Given the description of an element on the screen output the (x, y) to click on. 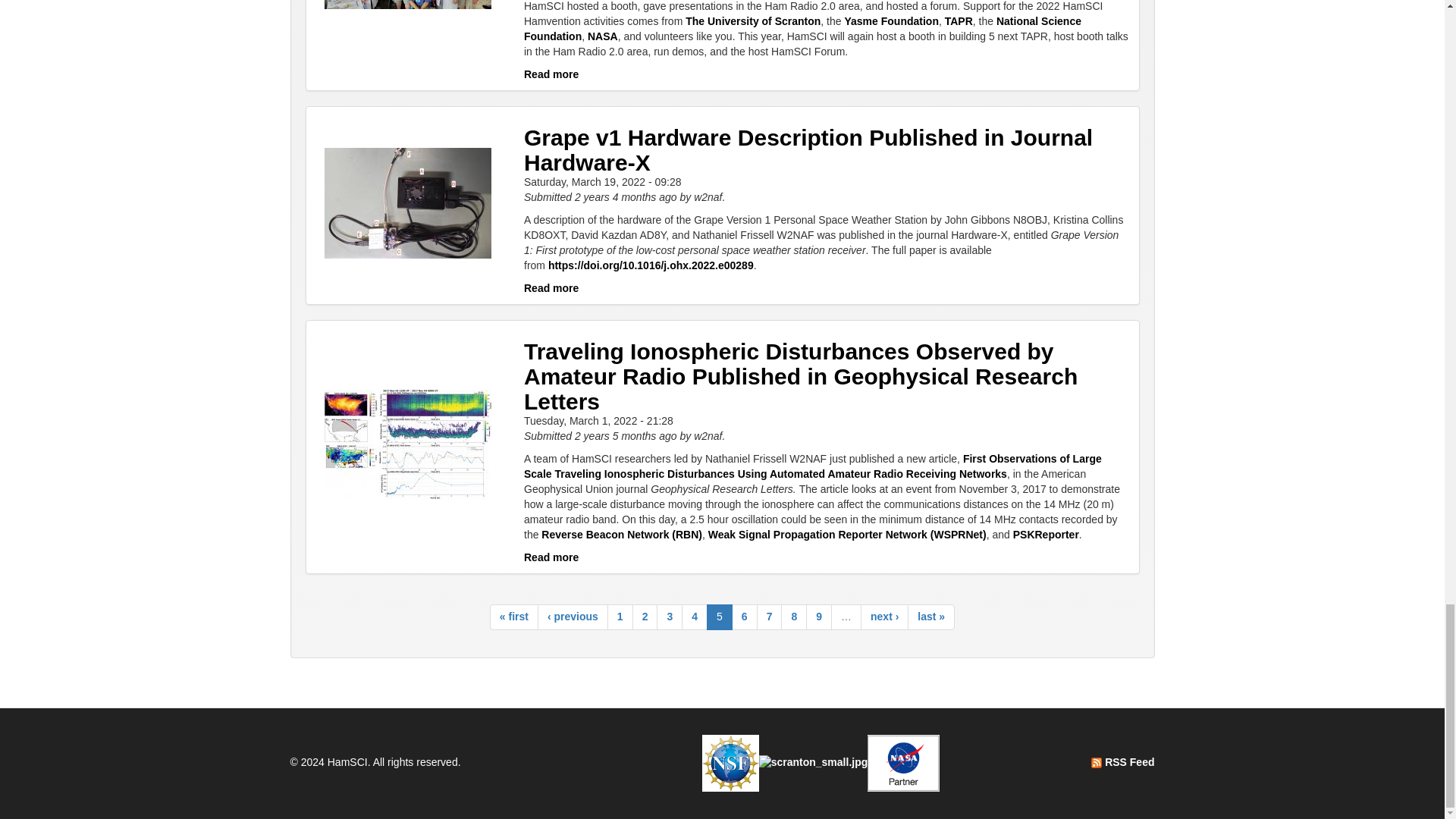
Go to previous page (572, 616)
Go to page 6 (744, 616)
Go to page 2 (644, 616)
Go to next page (884, 616)
Go to page 3 (669, 616)
Go to page 8 (793, 616)
Go to page 7 (770, 616)
Go to last page (931, 616)
Go to page 4 (694, 616)
Go to first page (513, 616)
